Given the description of an element on the screen output the (x, y) to click on. 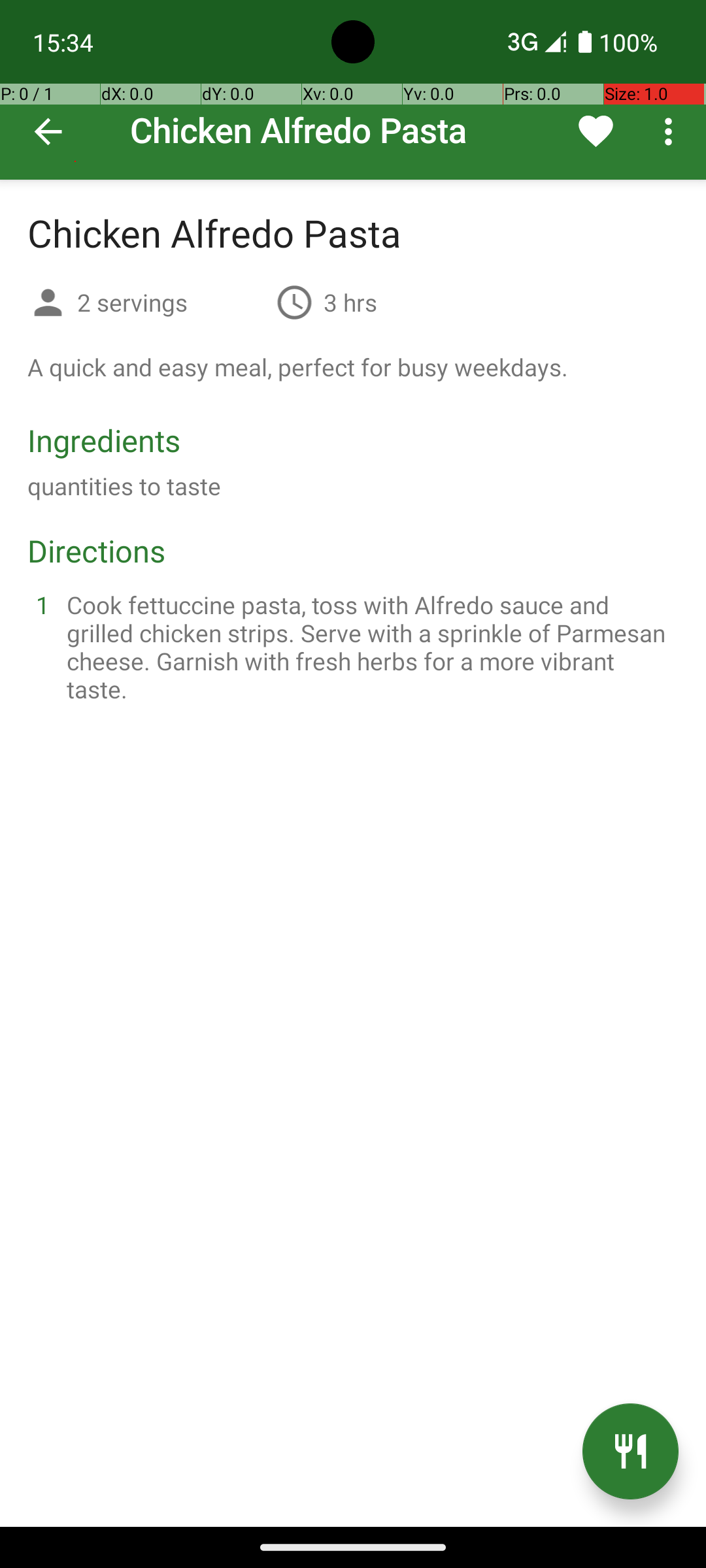
Remove from favorites Element type: android.widget.Button (595, 131)
2 servings Element type: android.widget.TextView (170, 301)
3 hrs Element type: android.widget.TextView (350, 301)
quantities to taste Element type: android.widget.TextView (123, 485)
Cook fettuccine pasta, toss with Alfredo sauce and grilled chicken strips. Serve with a sprinkle of Parmesan cheese. Garnish with fresh herbs for a more vibrant taste. Element type: android.widget.TextView (368, 646)
